Given the description of an element on the screen output the (x, y) to click on. 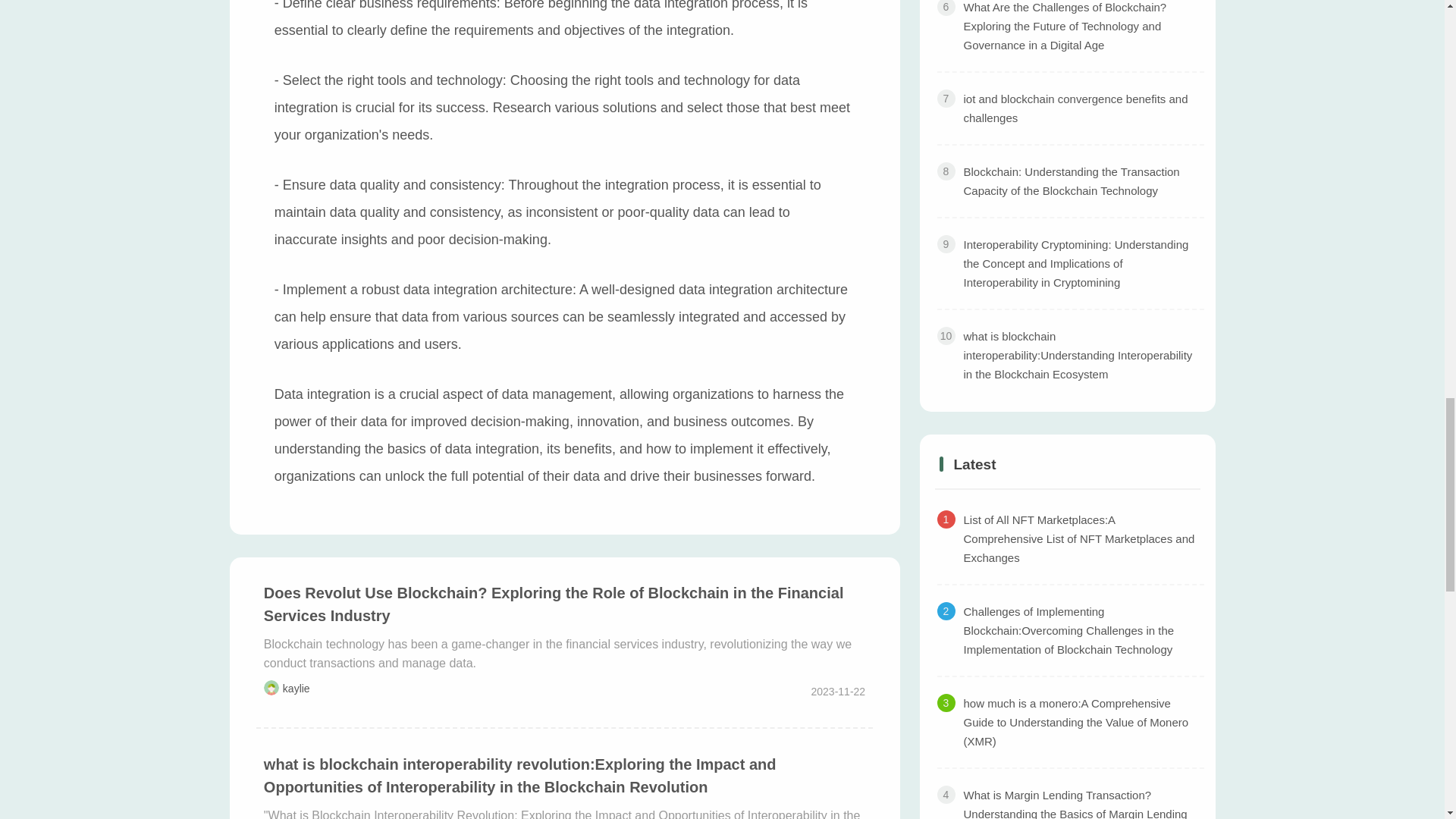
kaylie (296, 688)
